Given the description of an element on the screen output the (x, y) to click on. 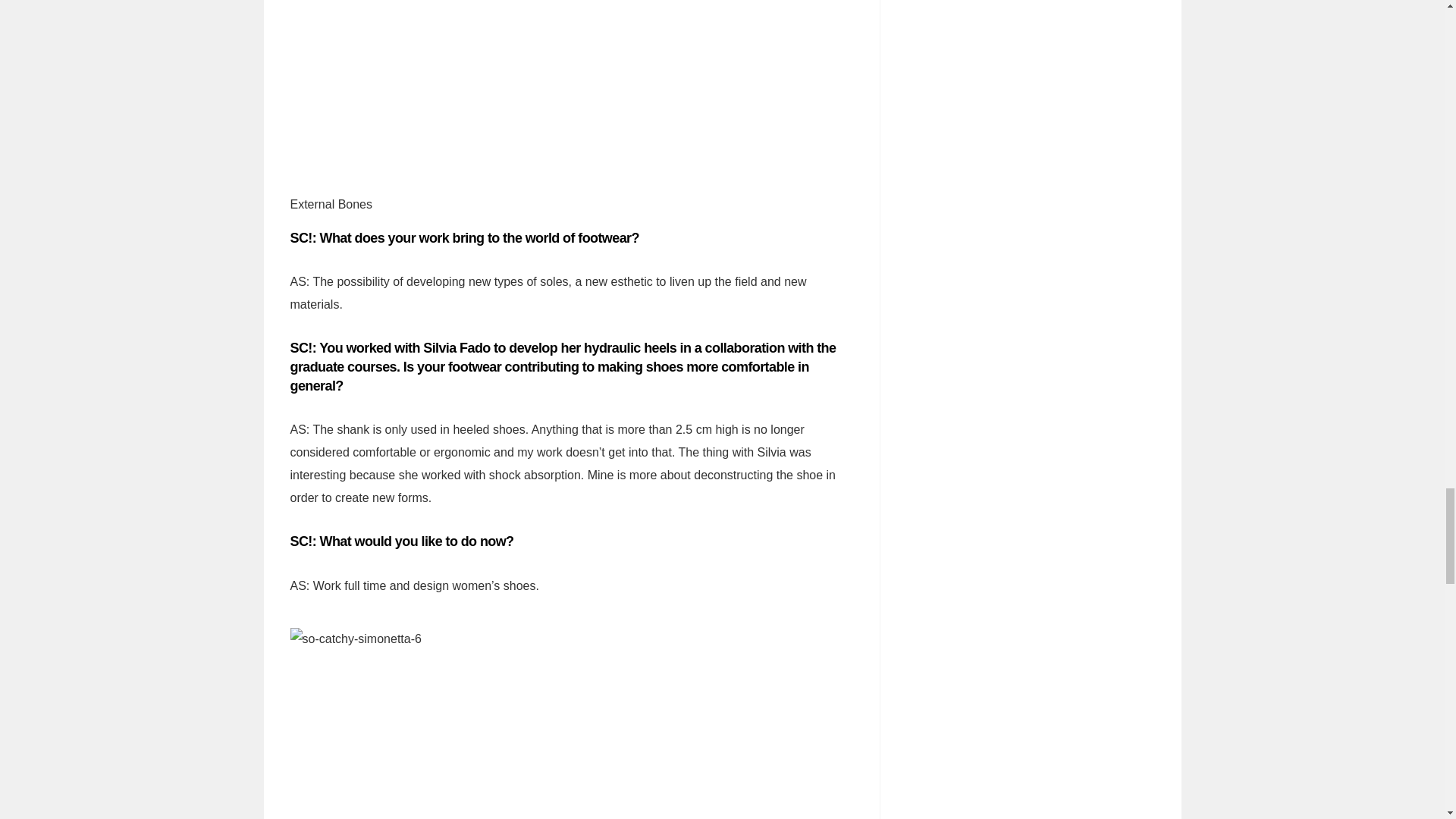
Silvia Fado (456, 347)
SILVIA FADO: HYDRAULIC HEELS (456, 347)
